Given the description of an element on the screen output the (x, y) to click on. 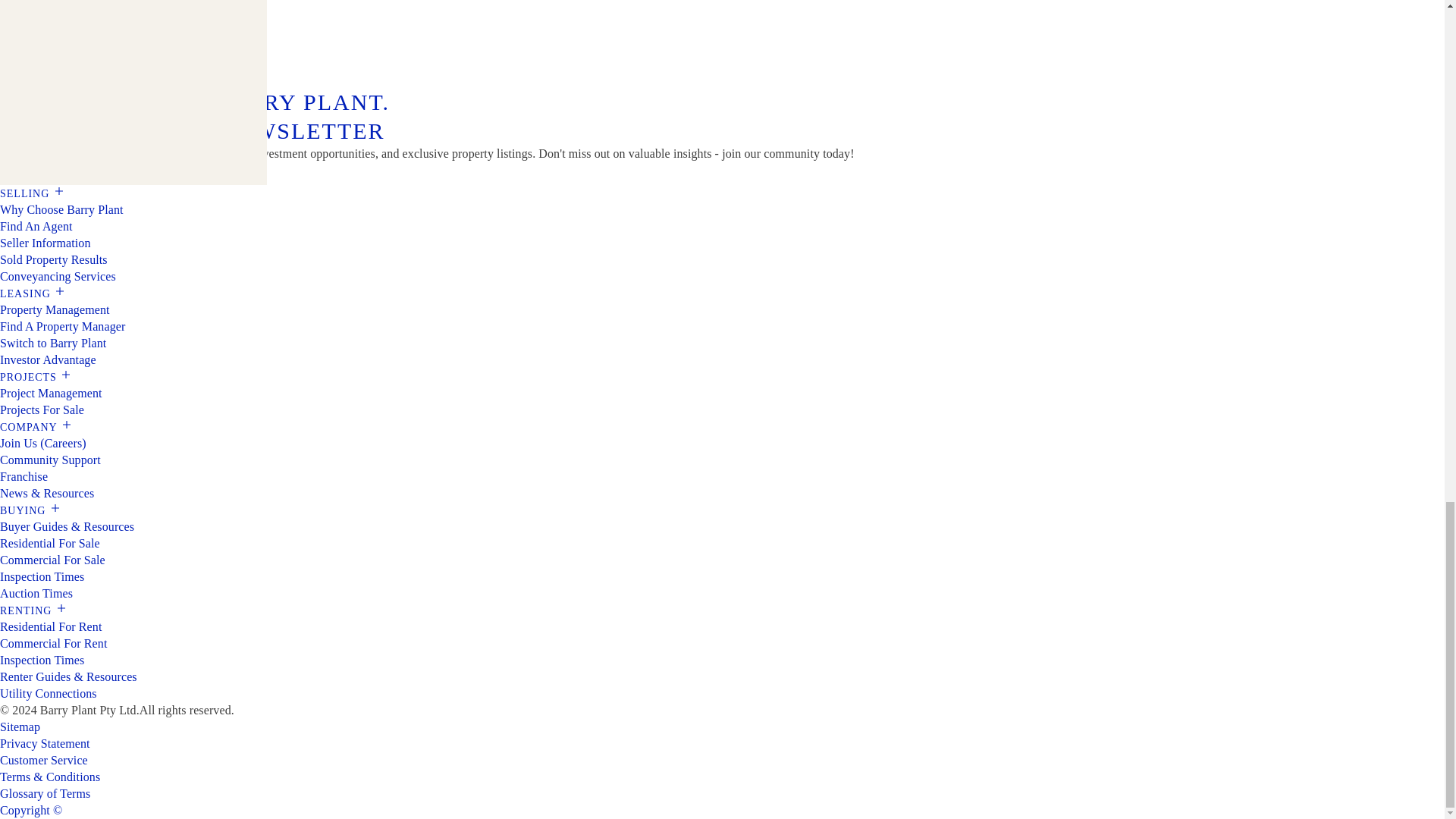
Why Choose Barry Plant (61, 209)
Find An Agent (36, 226)
subscribe (36, 173)
Seller Information (45, 242)
